Given the description of an element on the screen output the (x, y) to click on. 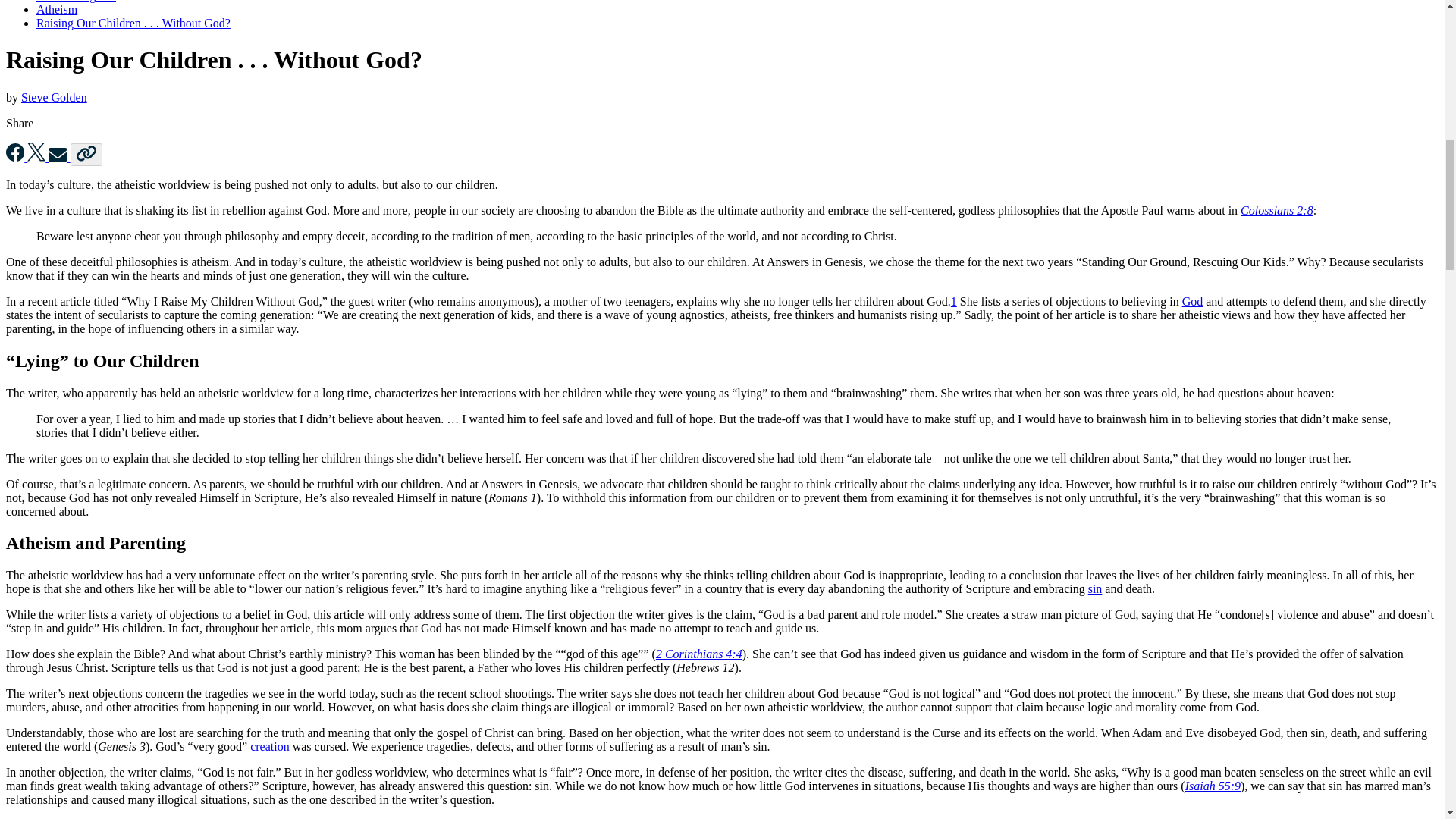
Isaiah 55:9 (1212, 785)
2 Corinthians 4:4 (699, 653)
sin (1094, 588)
Atheism (56, 9)
Steve Golden (54, 97)
Colossians 2:8 (1276, 210)
World Religions (76, 1)
God (1193, 300)
Raising Our Children . . . Without God? (133, 22)
creation (269, 746)
